Given the description of an element on the screen output the (x, y) to click on. 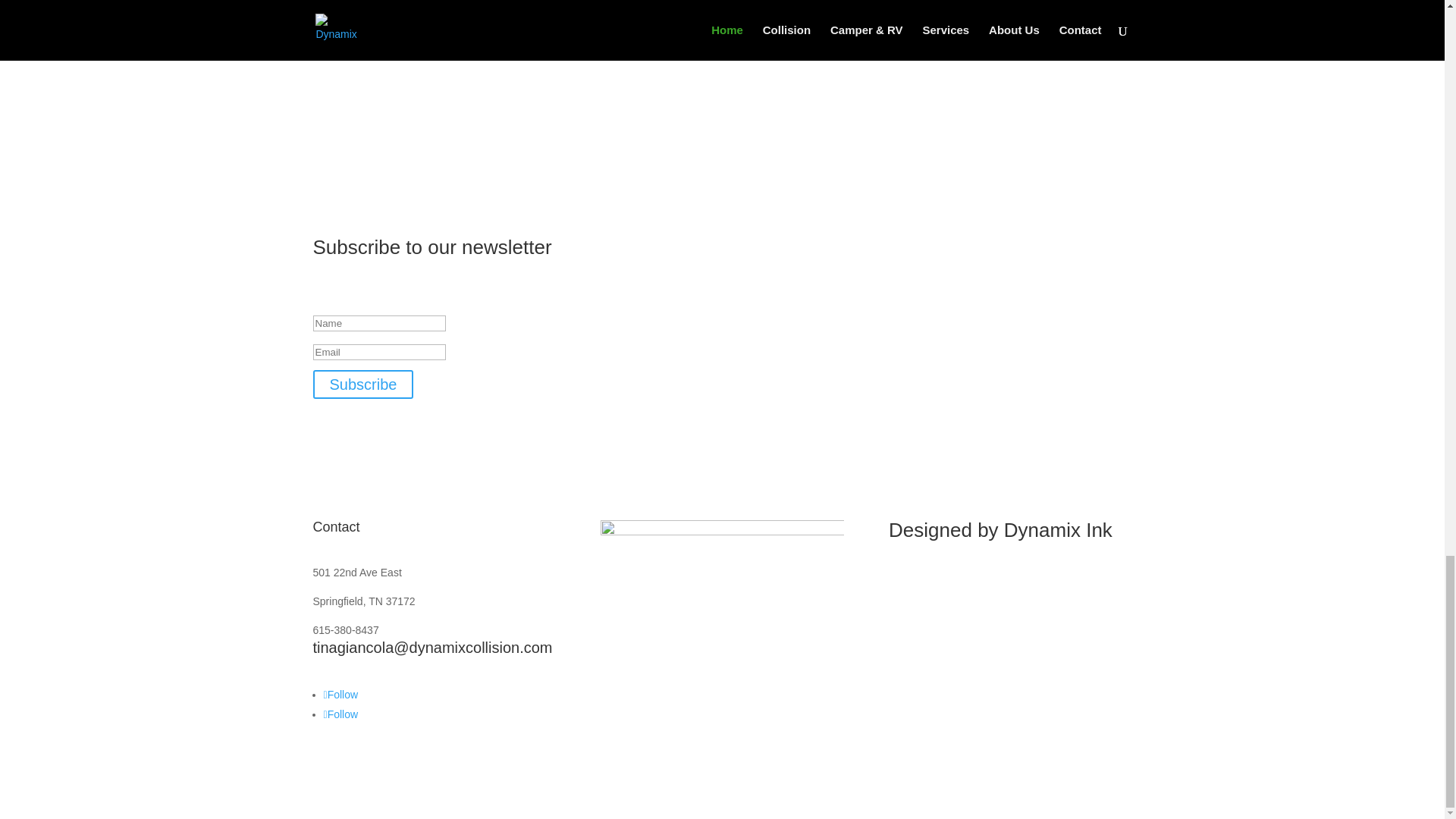
Subscribe (363, 384)
Follow on Instagram (340, 714)
Follow (340, 694)
Follow (340, 714)
Map (721, 638)
Follow on Facebook (340, 694)
